Given the description of an element on the screen output the (x, y) to click on. 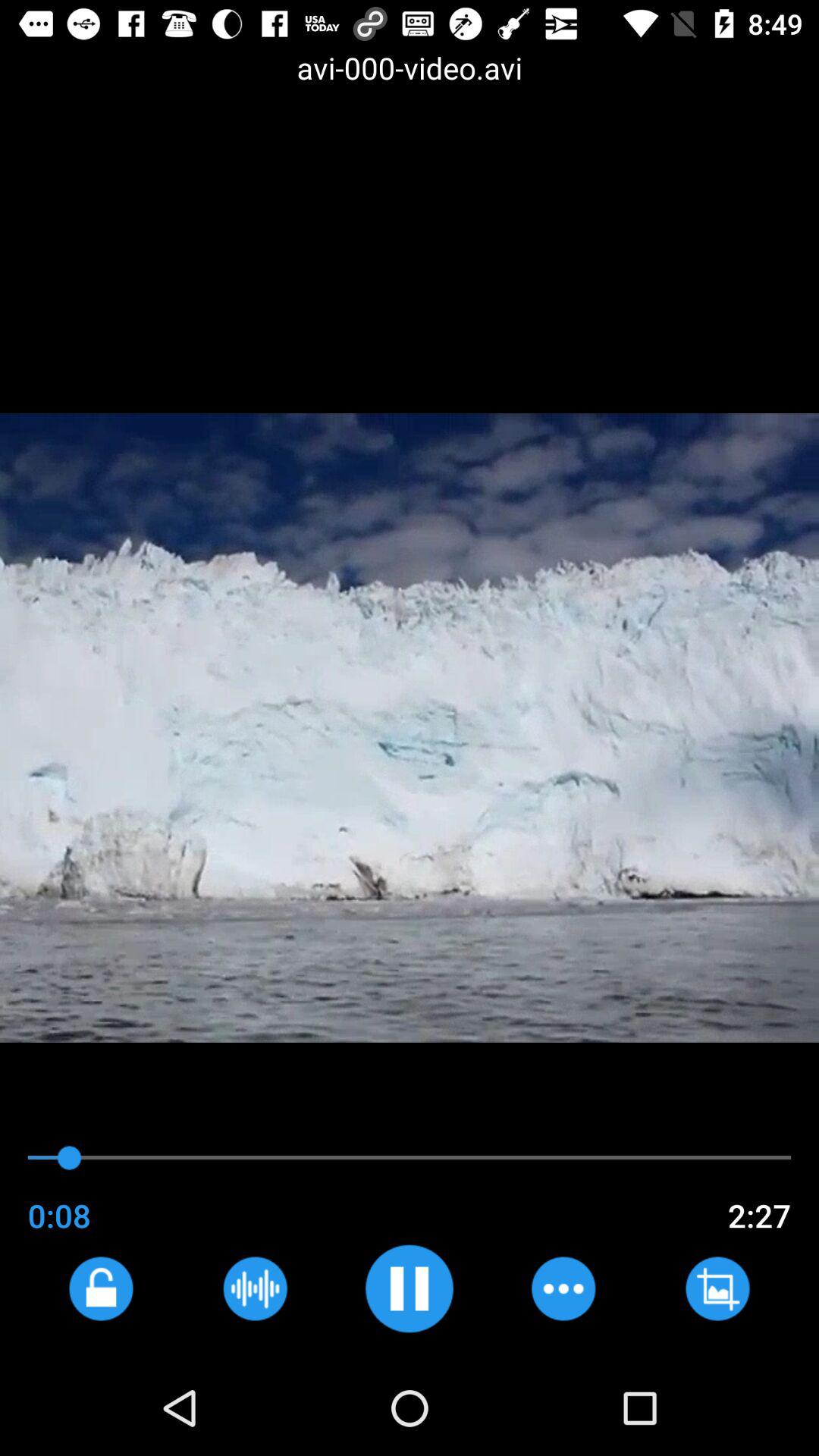
listen audio (255, 1288)
